Given the description of an element on the screen output the (x, y) to click on. 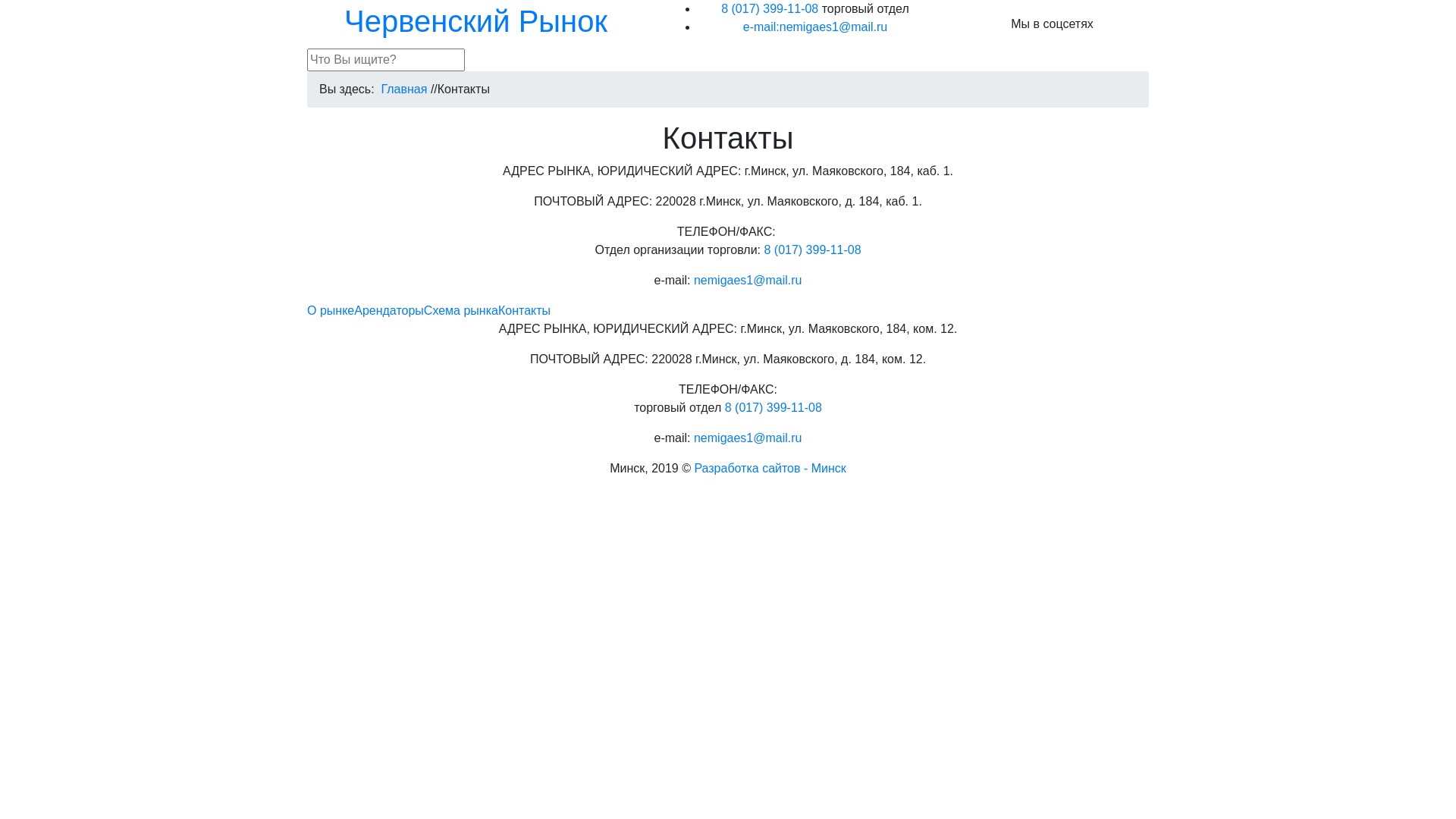
8 (017) 399-11-08 Element type: text (773, 407)
e-mail:nemigaes1@mail.ru Element type: text (815, 26)
8 (017) 399-11-08 Element type: text (811, 249)
nemigaes1@mail.ru Element type: text (747, 279)
8 (017) 399-11-08 Element type: text (769, 8)
nemigaes1@mail.ru Element type: text (747, 437)
